Given the description of an element on the screen output the (x, y) to click on. 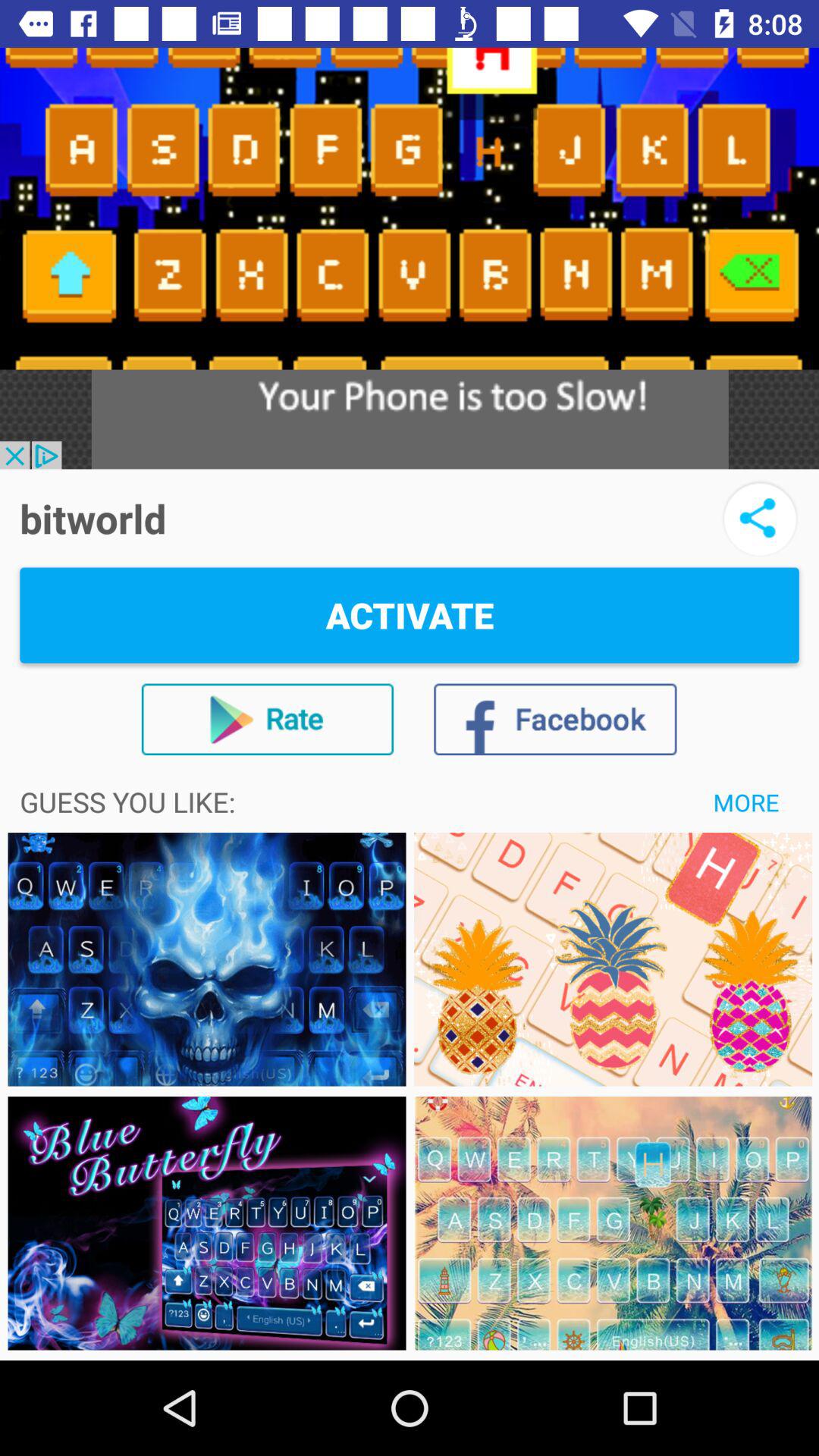
tap item below activate item (746, 801)
